Given the description of an element on the screen output the (x, y) to click on. 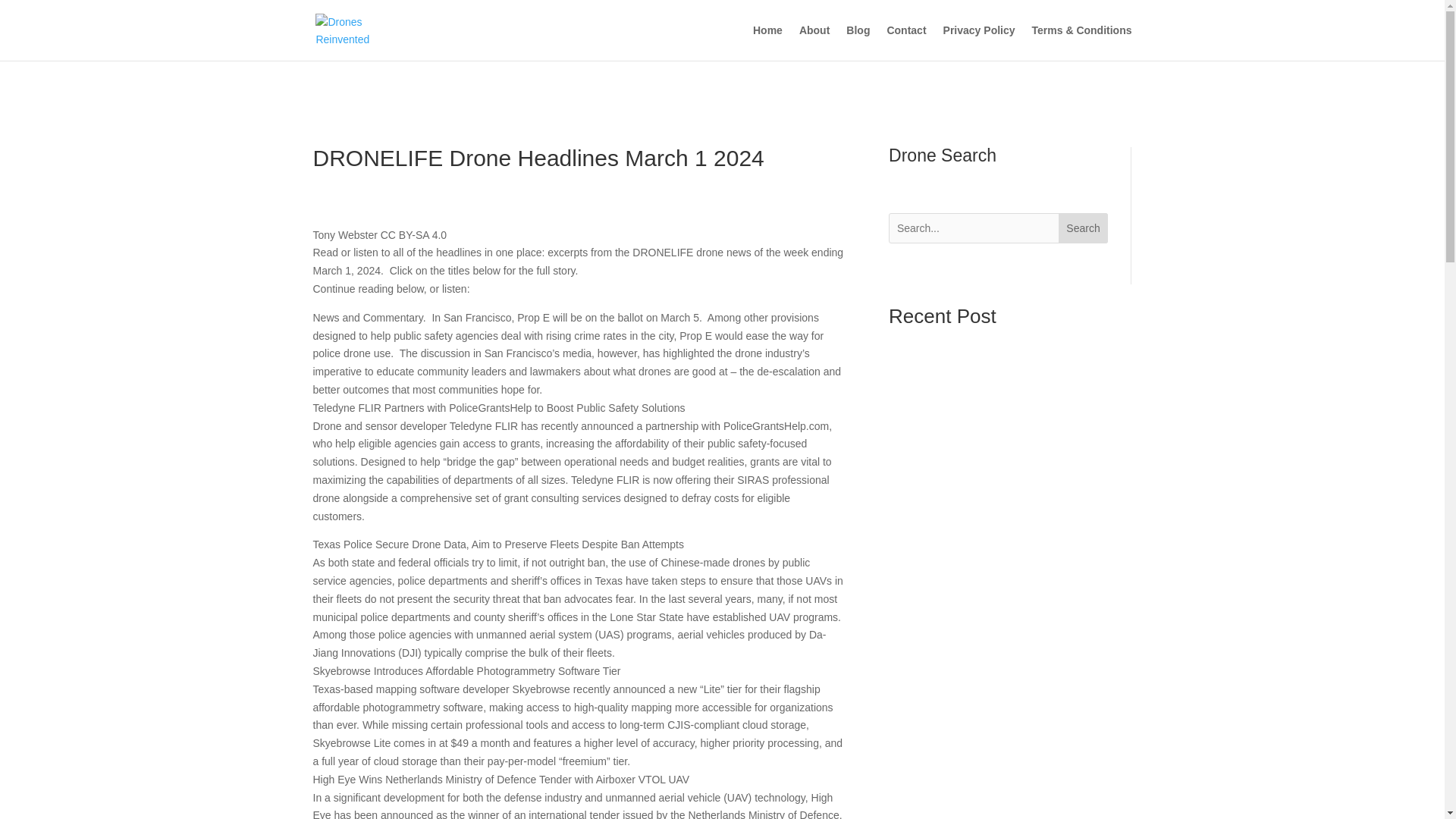
Search (1083, 227)
Contact (906, 42)
About (814, 42)
Privacy Policy (978, 42)
Home (767, 42)
Blog (857, 42)
